Given the description of an element on the screen output the (x, y) to click on. 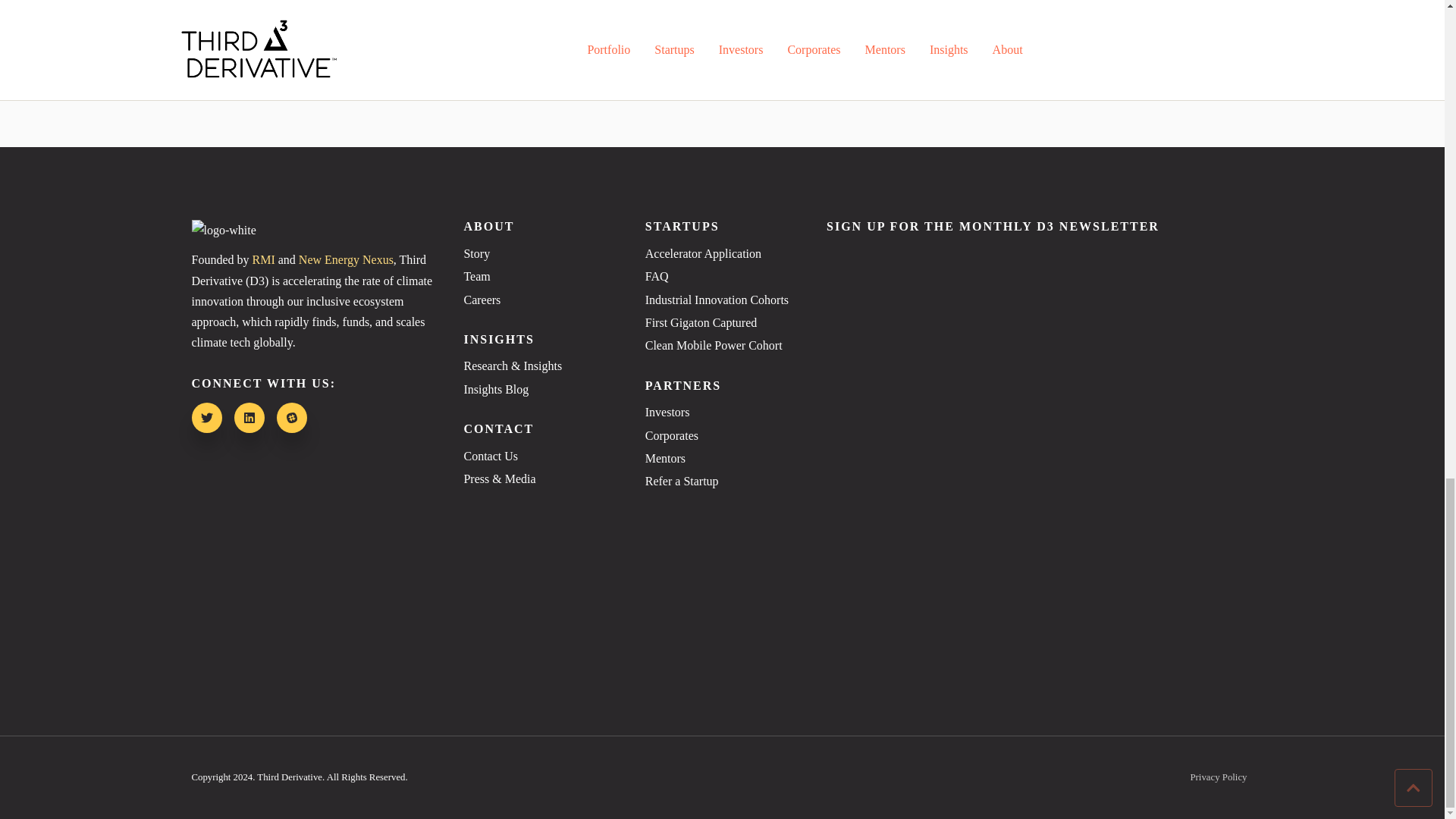
FAQ (722, 276)
Contact Us (540, 456)
Clean Mobile Power Cohort (722, 345)
Privacy Policy (1217, 777)
Investors (722, 412)
First Gigaton Captured (722, 322)
Corporates (722, 435)
New Energy Nexus (345, 259)
Insights Blog (540, 389)
Accelerator Application (722, 253)
